Given the description of an element on the screen output the (x, y) to click on. 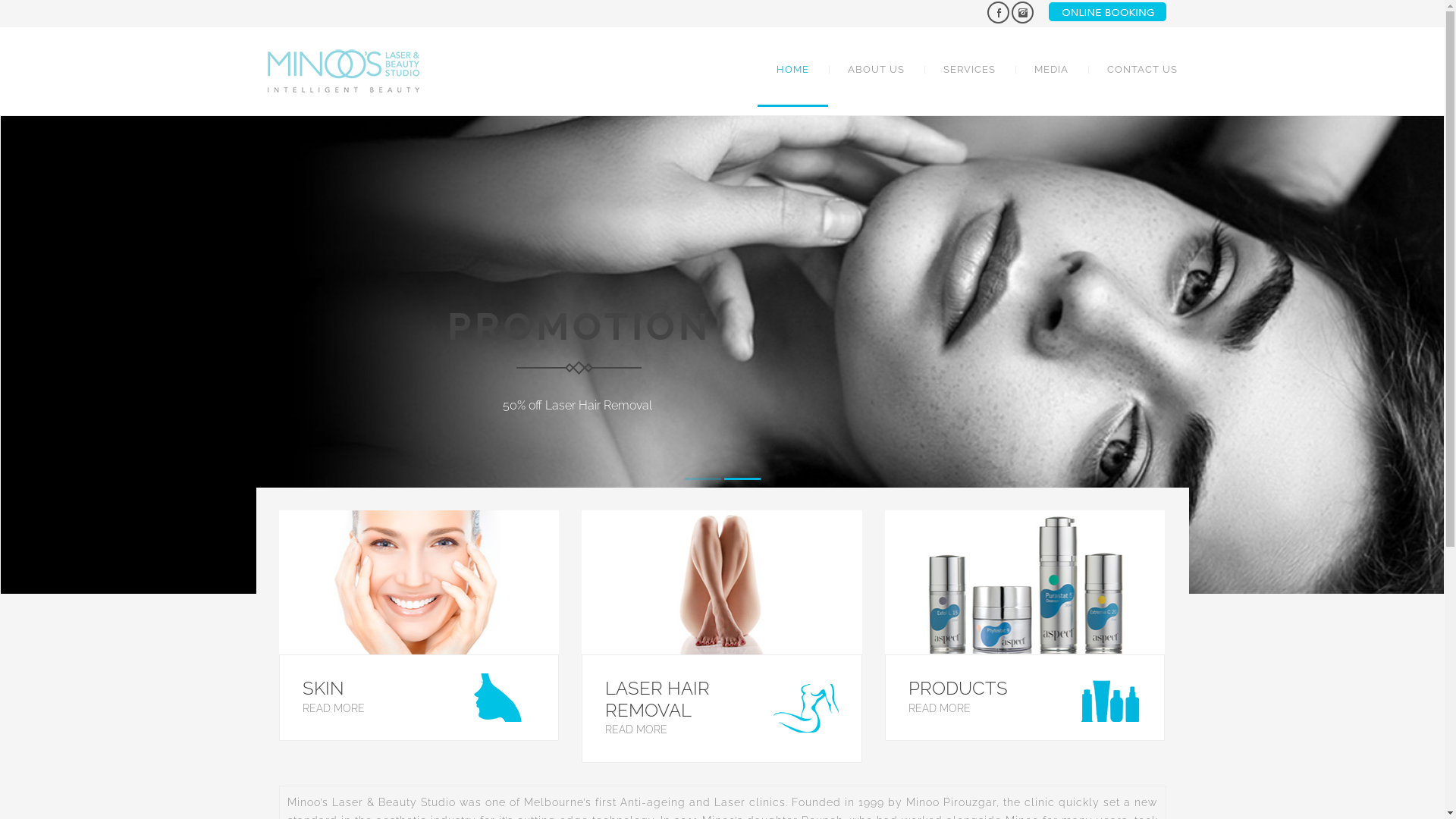
MEDIA Element type: text (1050, 69)
Minoos Laser and Beauty Studio Element type: hover (342, 70)
CONTACT US Element type: text (1131, 69)
LASER HAIR REMOVAL
READ MORE Element type: text (721, 636)
  Element type: text (1022, 12)
ABOUT US Element type: text (875, 69)
Products Element type: hover (1024, 582)
Skin Element type: hover (419, 582)
Laser Hair Removal Element type: hover (721, 582)
PRODUCTS
READ MORE Element type: text (1024, 625)
SKIN
READ MORE Element type: text (419, 625)
HOME Element type: text (791, 69)
SERVICES Element type: text (968, 69)
  Element type: text (998, 12)
